Given the description of an element on the screen output the (x, y) to click on. 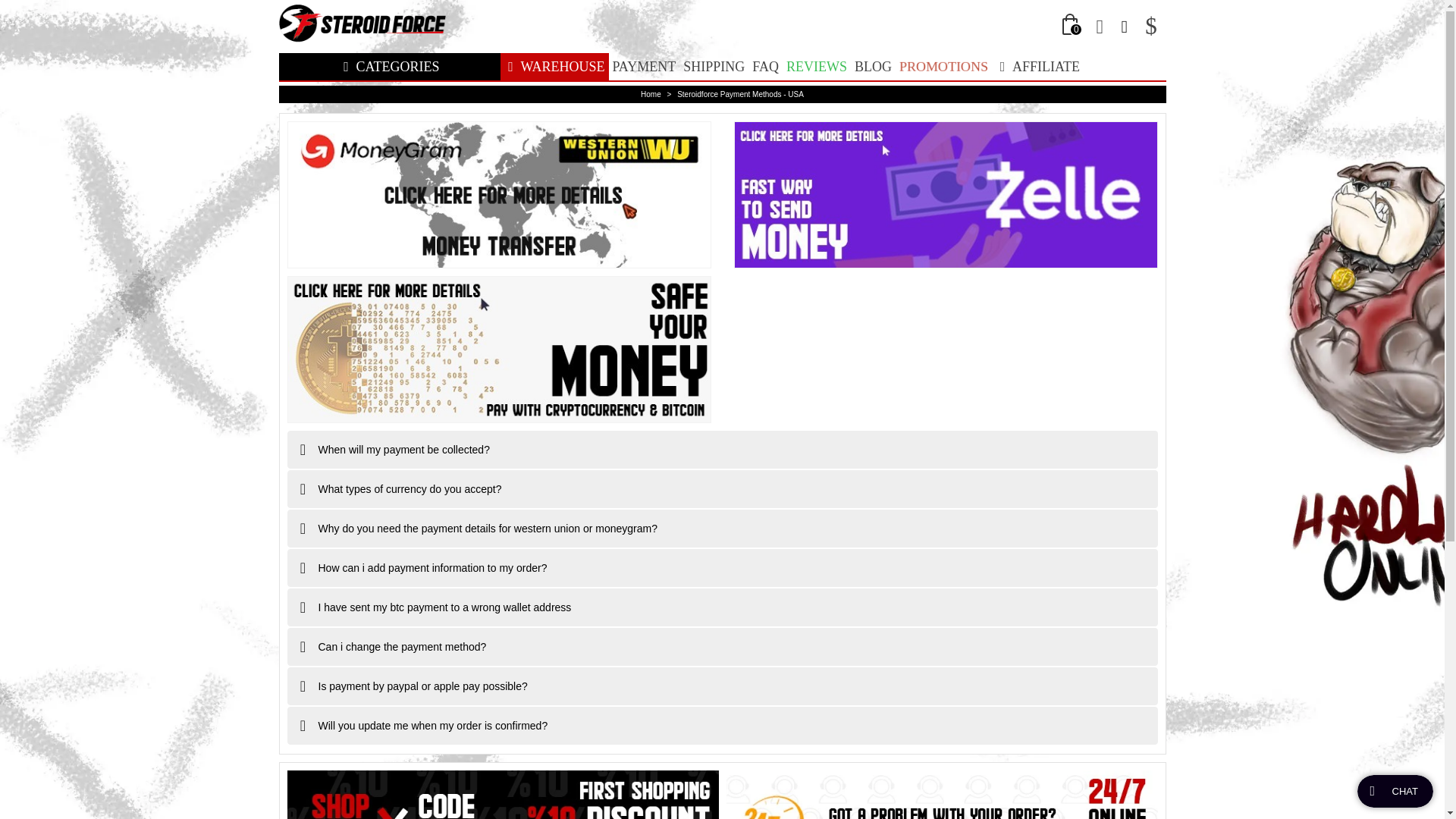
Search (1123, 25)
Steroidforce (362, 26)
Categories (389, 66)
0 (1072, 26)
CATEGORIES (389, 66)
View my shopping cart (1072, 26)
